Given the description of an element on the screen output the (x, y) to click on. 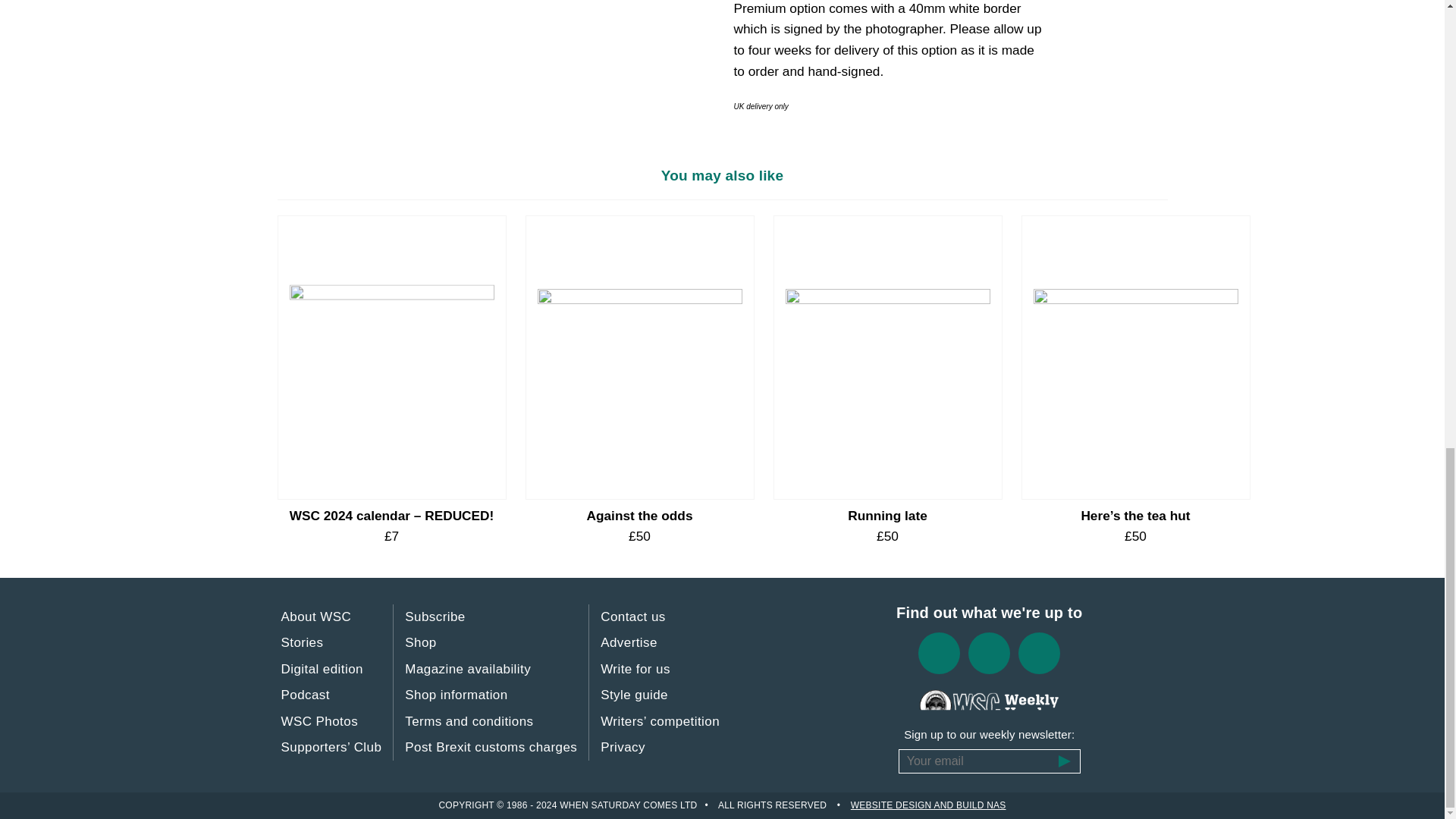
Shop (420, 642)
Shop information (456, 695)
WSC Photos (320, 721)
Terms and conditions (469, 721)
Subscribe (434, 616)
Podcast (305, 695)
Stories (302, 642)
Magazine availability (467, 669)
Digital edition (322, 669)
Post Brexit customs charges (490, 747)
